Given the description of an element on the screen output the (x, y) to click on. 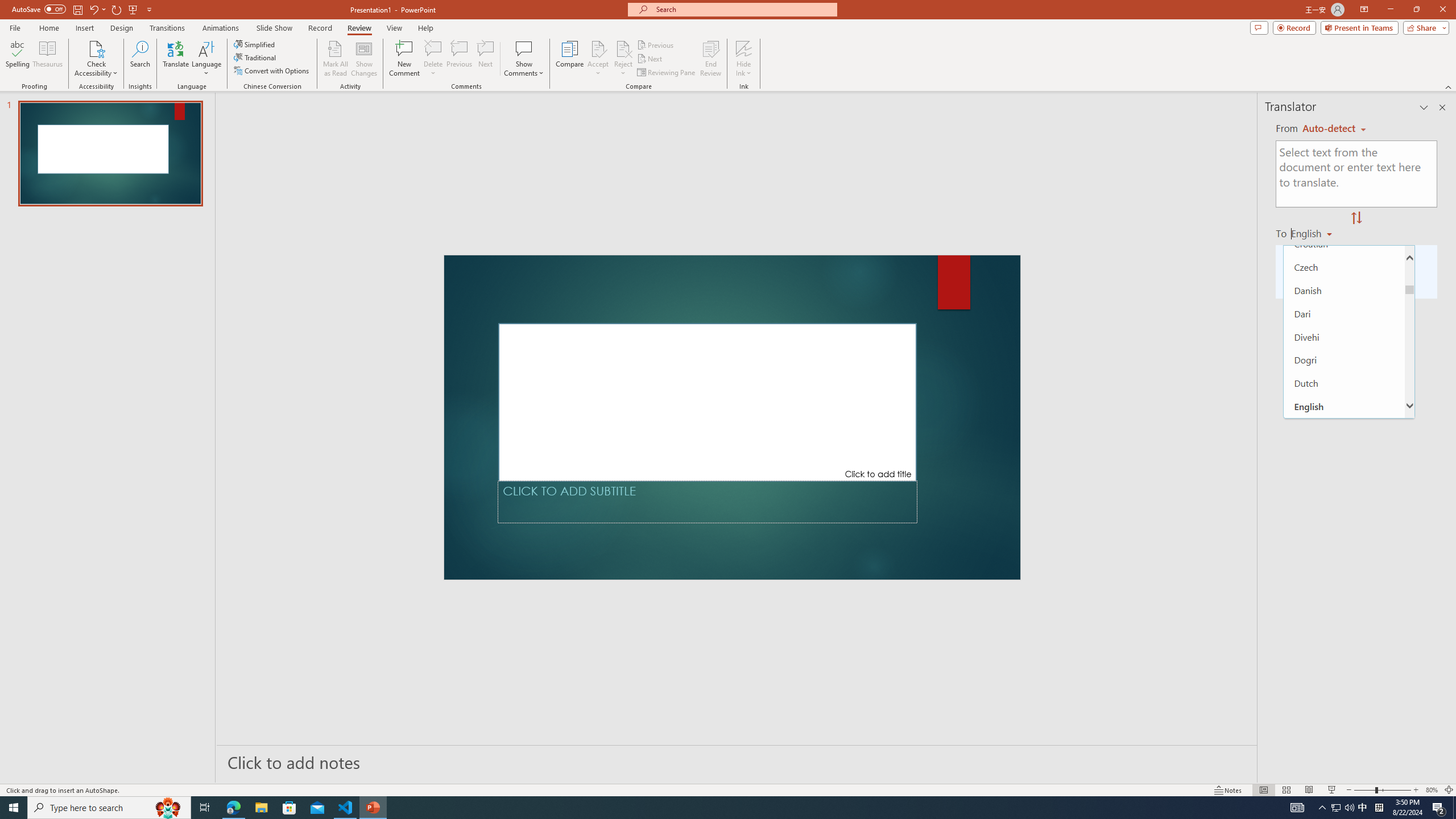
Delete (432, 58)
Finnish (1344, 522)
Show Changes (363, 58)
Hide Ink (743, 58)
Chinese Traditional (1344, 219)
Title TextBox (707, 401)
